Given the description of an element on the screen output the (x, y) to click on. 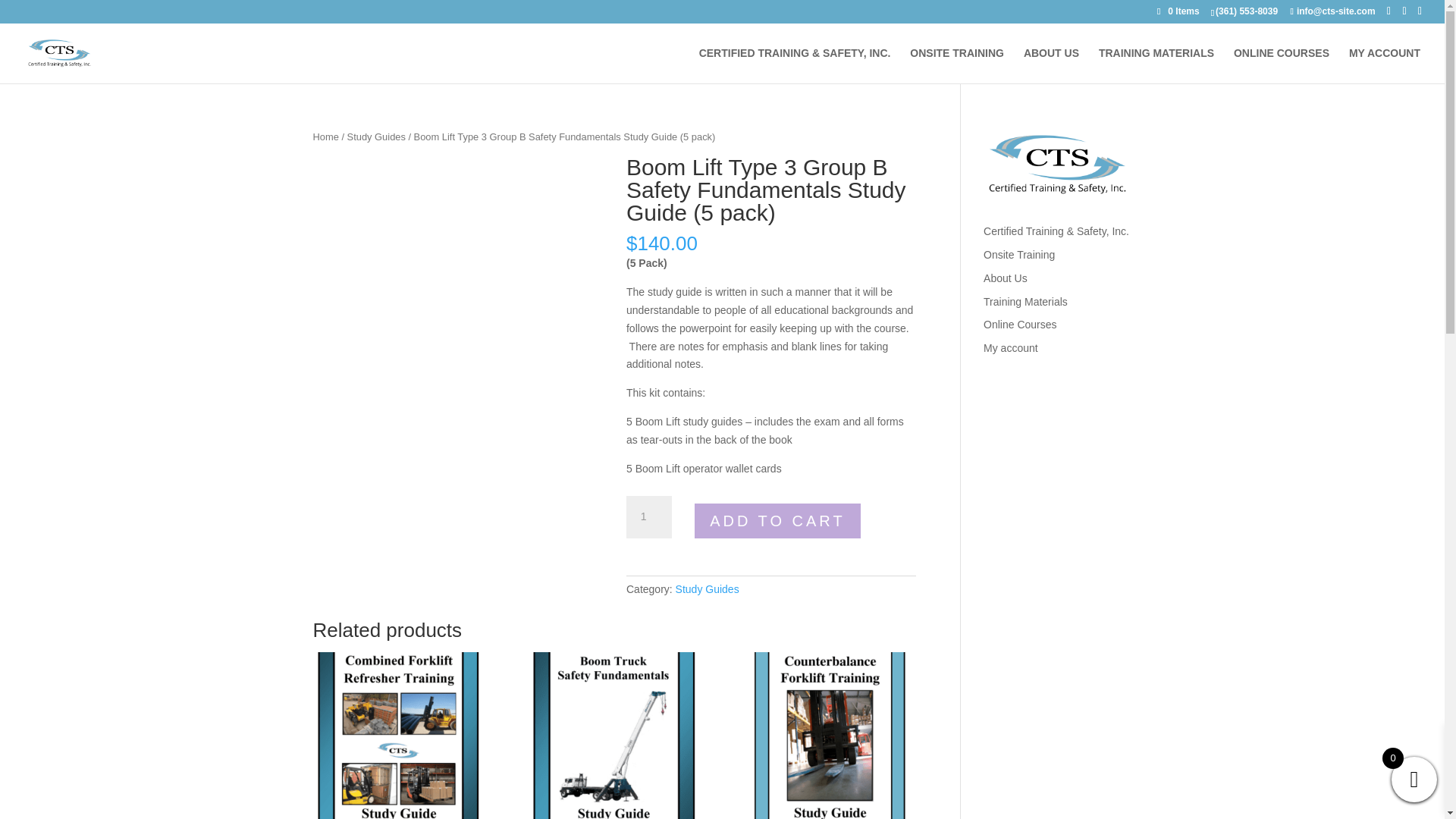
TRAINING MATERIALS (1156, 65)
Home (325, 136)
Study Guides (707, 589)
Onsite Training (1019, 254)
ADD TO CART (777, 521)
Online Courses (1020, 324)
My account (1011, 347)
1 (648, 517)
MY ACCOUNT (1385, 65)
Training Materials (1025, 301)
ONLINE COURSES (1281, 65)
ABOUT US (1050, 65)
0 Items (1178, 10)
Study Guides (376, 136)
About Us (1005, 277)
